Given the description of an element on the screen output the (x, y) to click on. 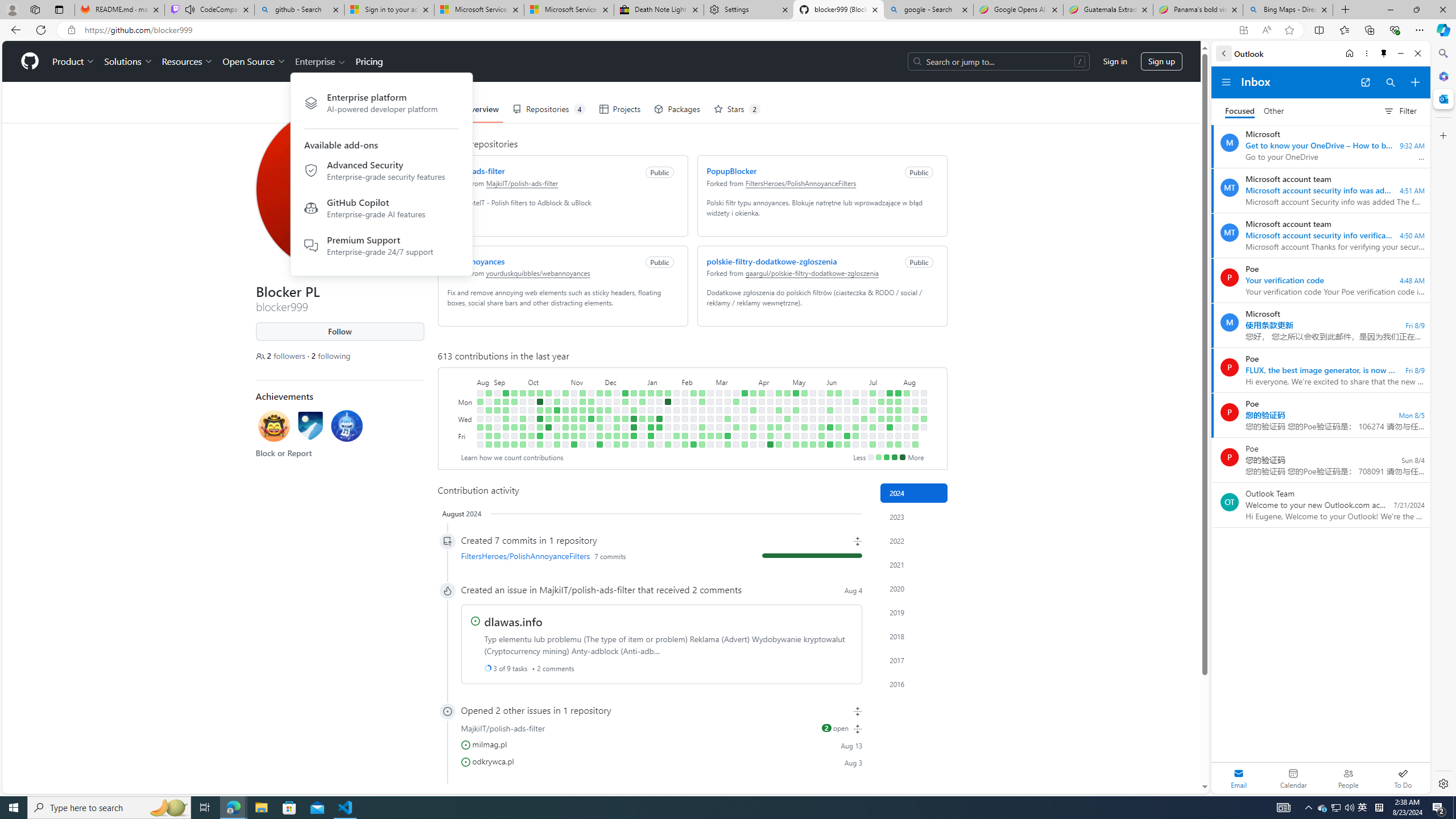
No contributions on March 26th. (744, 410)
4 contributions on November 16th. (582, 427)
Customize (1442, 135)
Workspaces (34, 9)
4 contributions on December 3rd. (607, 392)
No contributions on January 2nd. (642, 410)
github - Search (298, 9)
No contributions on April 10th. (761, 418)
No contributions on July 20th. (880, 444)
1 contribution on August 21st. (923, 418)
1 contribution on February 11th. (693, 392)
2 contributions on November 1st. (565, 418)
Filter (1399, 110)
No contributions on January 23rd. (667, 410)
